Given the description of an element on the screen output the (x, y) to click on. 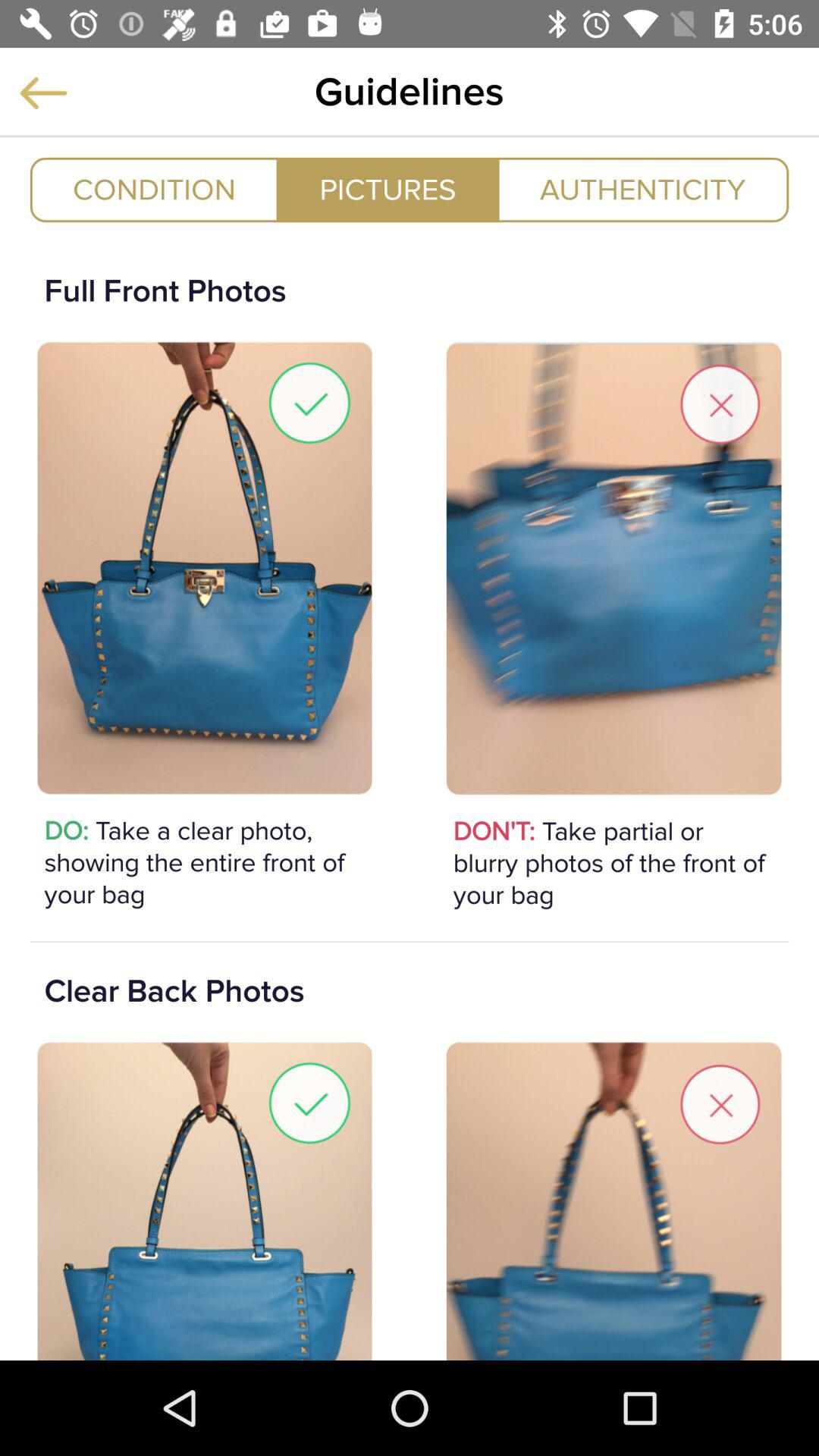
goes back to previous page (43, 92)
